Given the description of an element on the screen output the (x, y) to click on. 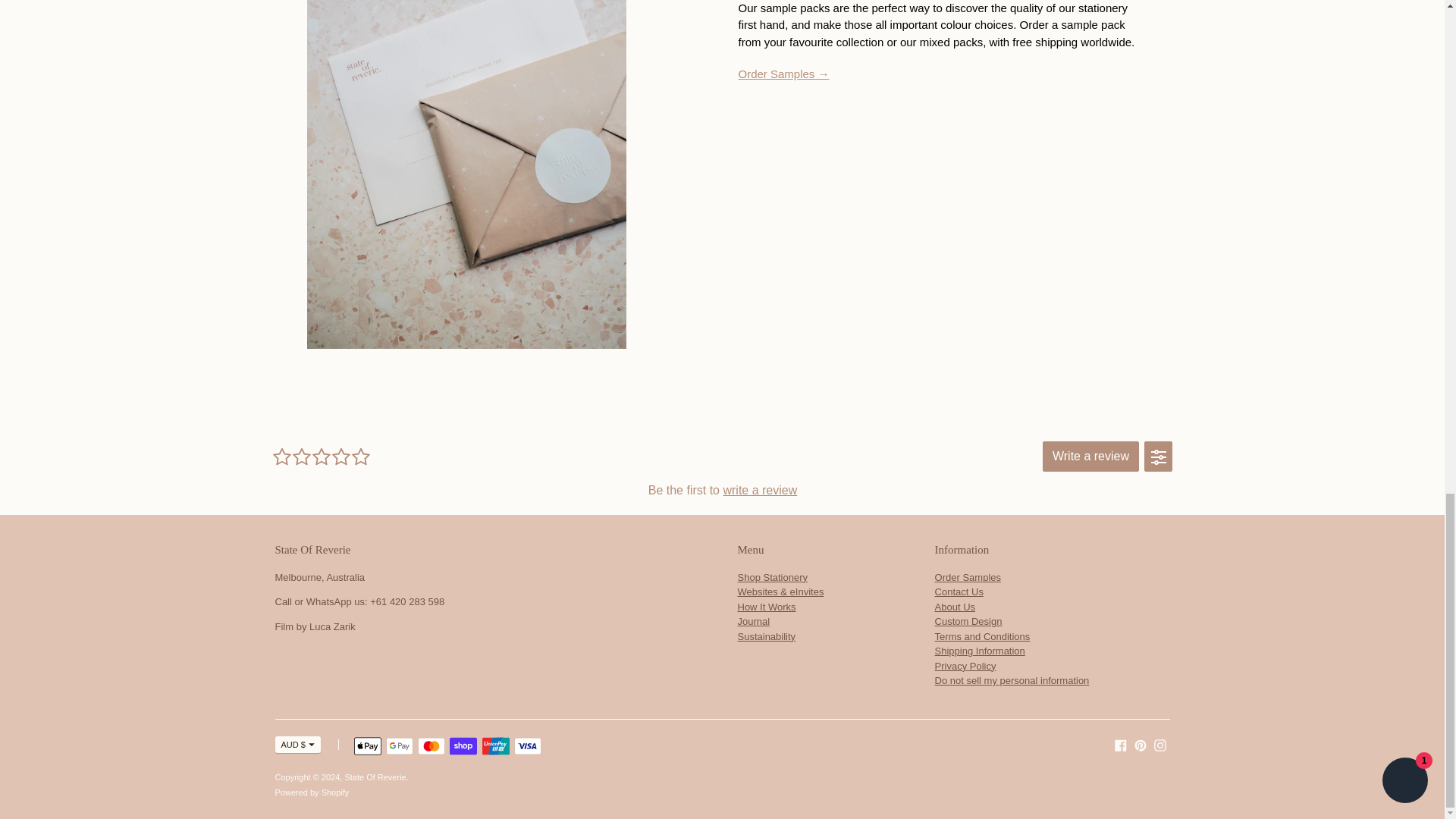
Union Pay (495, 746)
Google Pay (399, 746)
Apple Pay (367, 746)
Product reviews widget (721, 470)
State Of Reverie on Instagram (1160, 744)
State Of Reverie on Pinterest (1140, 744)
Shop Pay (463, 746)
State Of Reverie on Facebook (1120, 744)
Mastercard (431, 746)
Visa (527, 746)
